Given the description of an element on the screen output the (x, y) to click on. 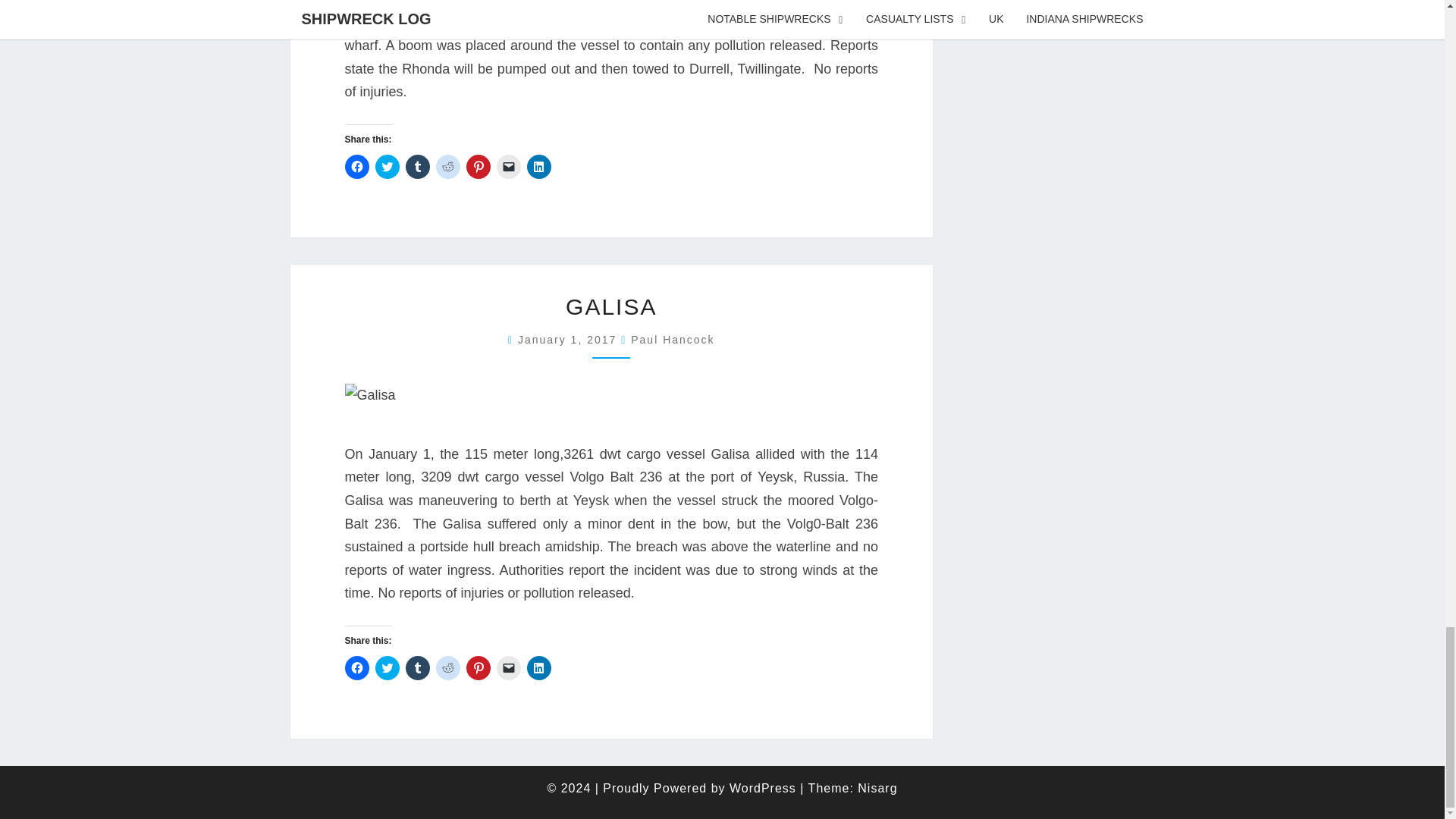
Click to share on Reddit (447, 166)
Click to share on Facebook (355, 166)
Click to share on Twitter (386, 166)
Click to share on Tumblr (416, 166)
Click to share on Pinterest (477, 166)
Newfoundland and Labrador (610, 15)
